Given the description of an element on the screen output the (x, y) to click on. 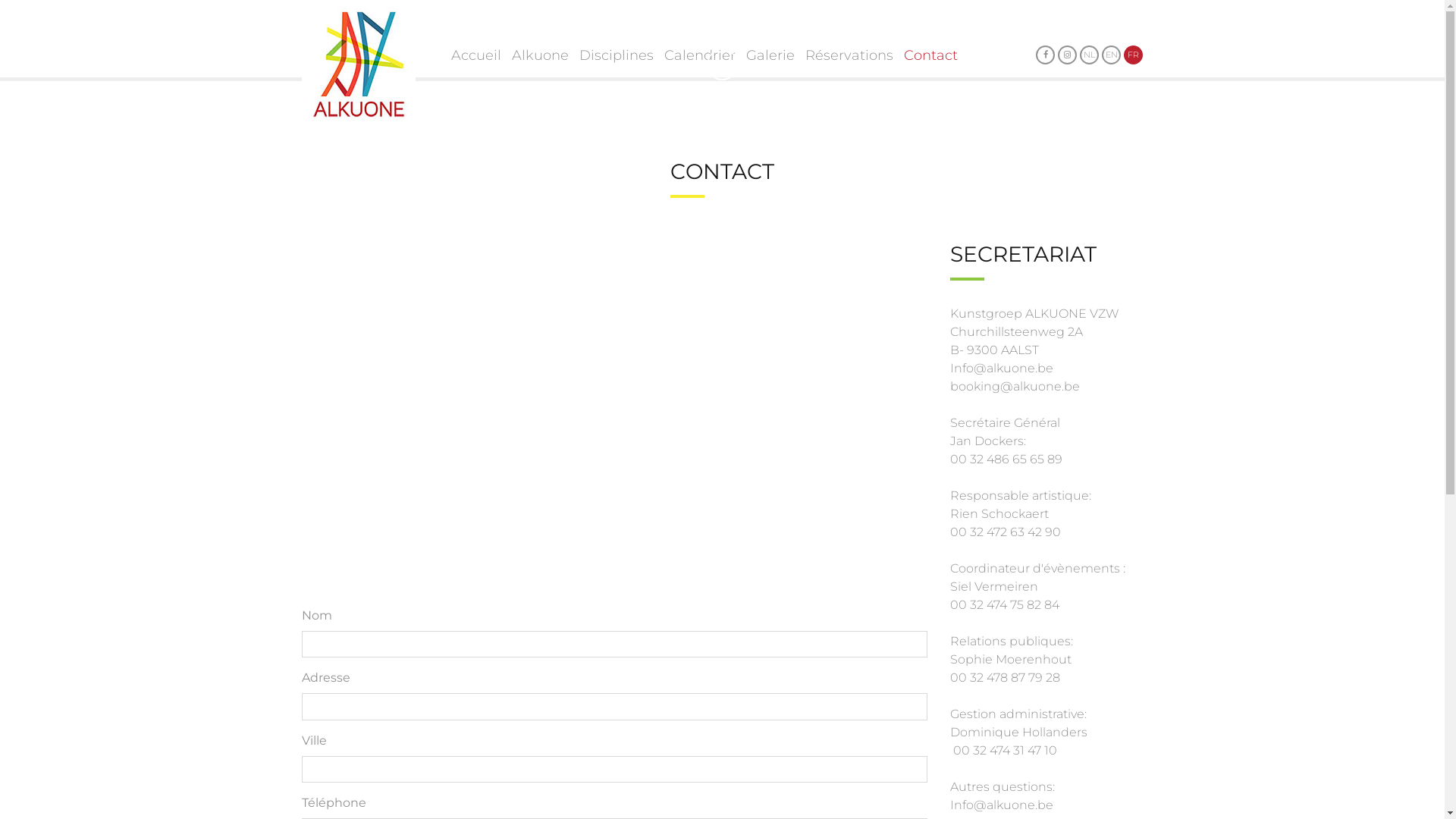
EN Element type: text (1110, 54)
Contact Element type: text (930, 55)
FR Element type: text (1132, 54)
Accueil Element type: text (476, 55)
Info@alkuone.be Element type: text (1000, 367)
Calendrier Element type: text (699, 55)
NL Element type: text (1088, 54)
Galerie Element type: text (770, 55)
Disciplines Element type: text (616, 55)
Alkuone Element type: text (539, 55)
